Given the description of an element on the screen output the (x, y) to click on. 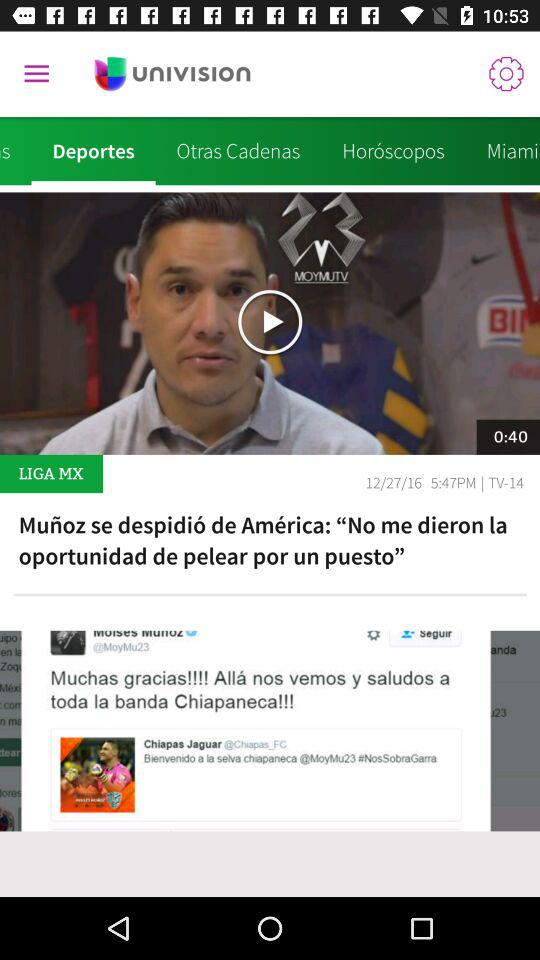
choose miami item (502, 151)
